Given the description of an element on the screen output the (x, y) to click on. 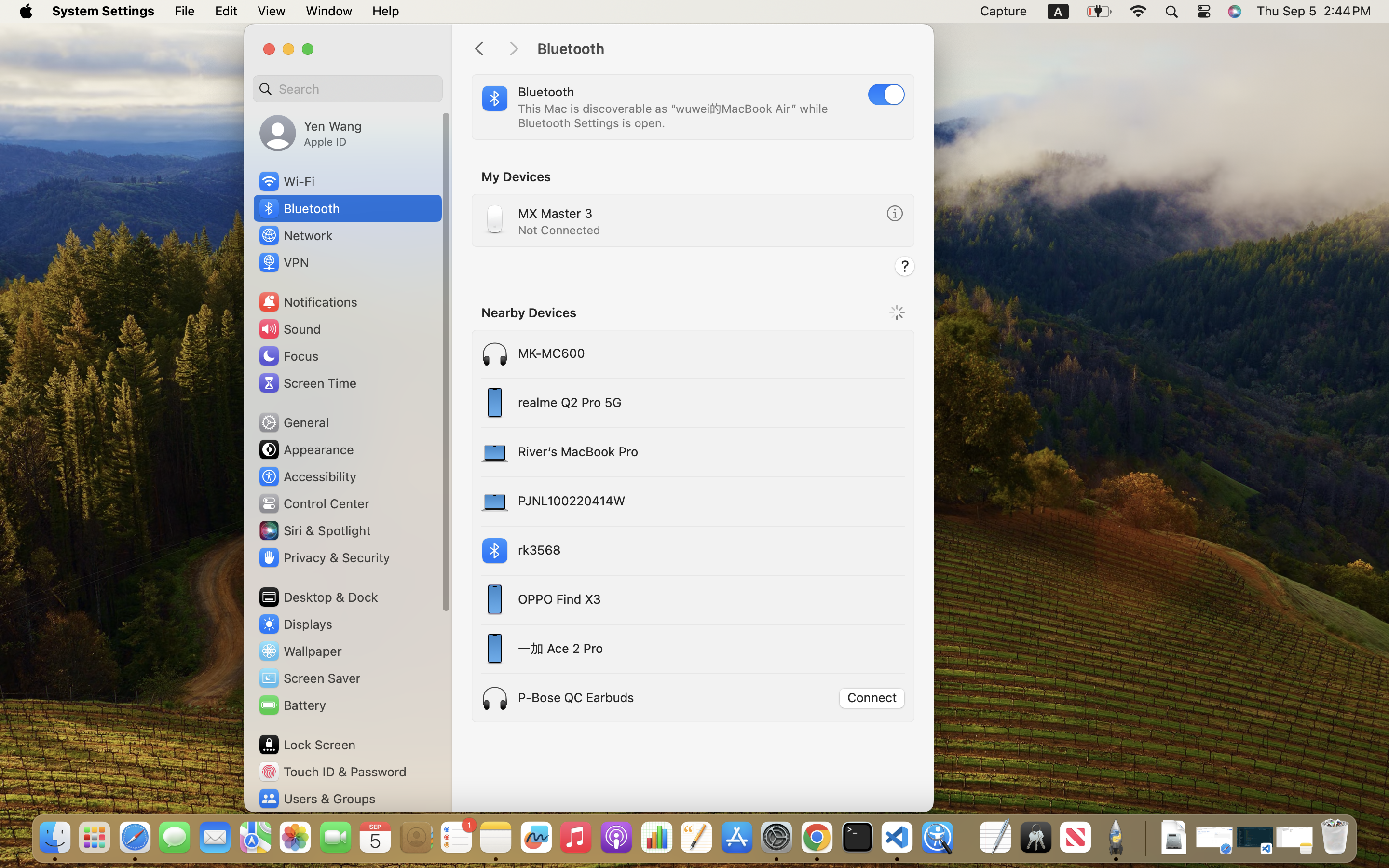
一加 Ace 2 Pro Element type: AXStaticText (655, 648)
VPN Element type: AXStaticText (282, 261)
Control Center Element type: AXStaticText (313, 503)
Not Connected Element type: AXStaticText (558, 229)
PJNL100220414W Element type: AXStaticText (655, 501)
